Given the description of an element on the screen output the (x, y) to click on. 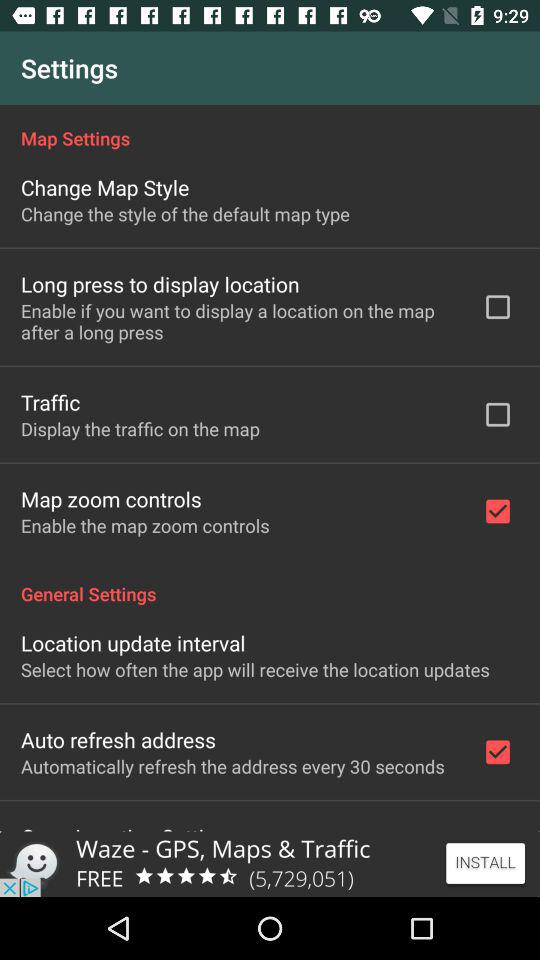
jump until select how often (255, 669)
